Given the description of an element on the screen output the (x, y) to click on. 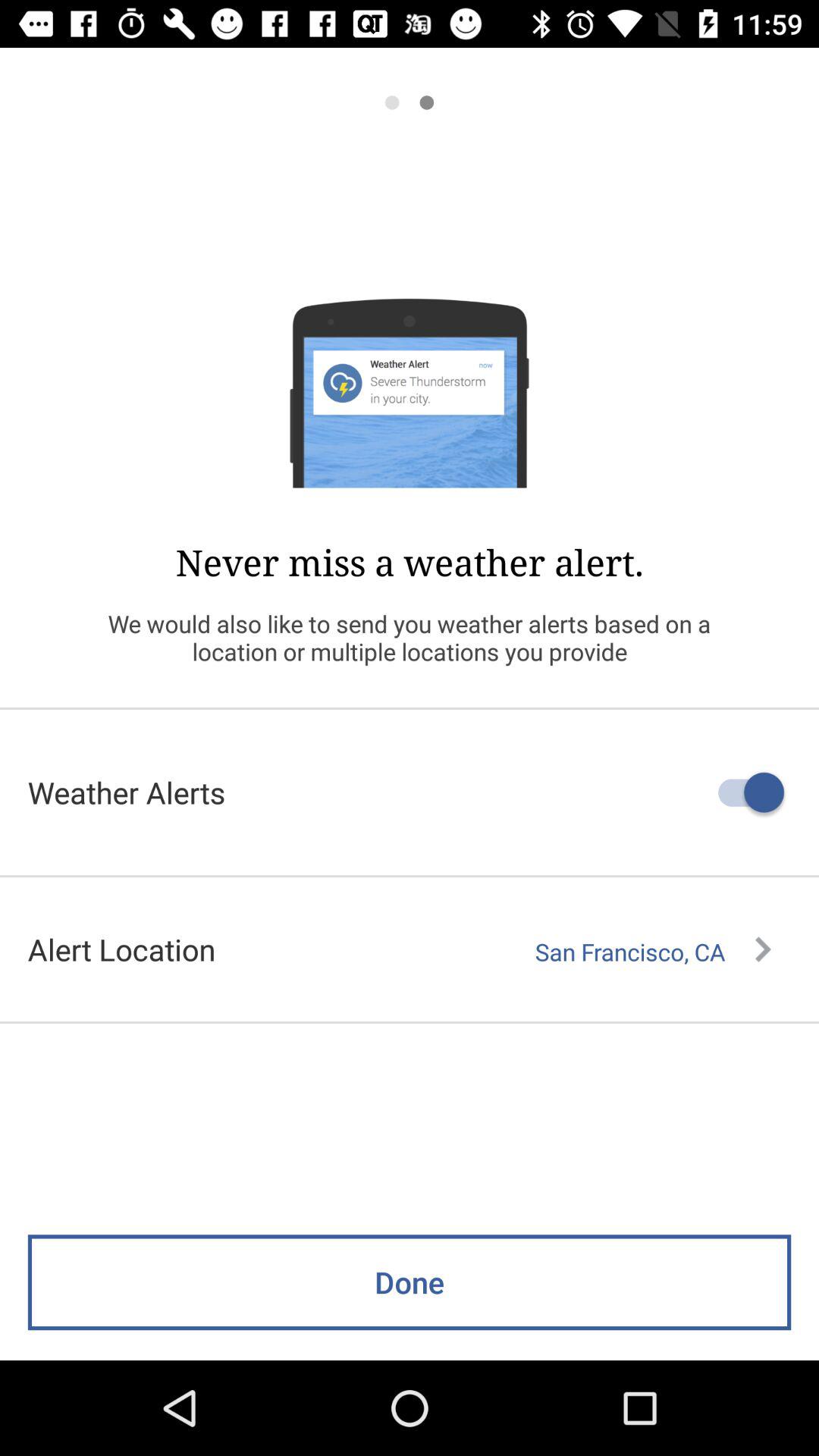
press item to the right of the alert location (653, 951)
